Given the description of an element on the screen output the (x, y) to click on. 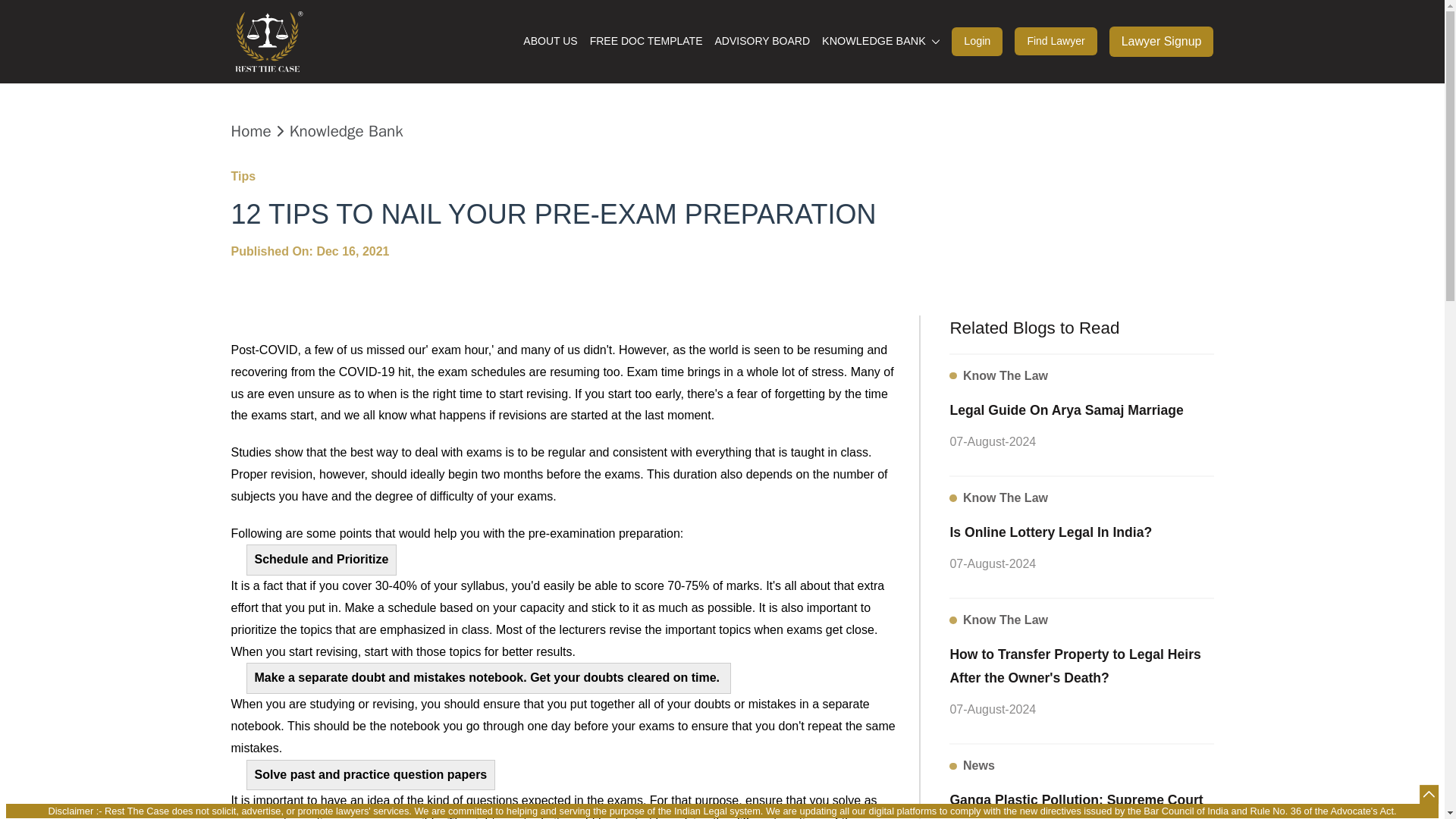
Lawyer Signup (1161, 41)
Legal Guide On Arya Samaj Marriage (1065, 408)
ADVISORY BOARD (761, 41)
Is Online Lottery Legal In India? (1050, 530)
KNOWLEDGE BANK (880, 41)
ABOUT US (549, 41)
Find Lawyer (1055, 41)
Home (250, 131)
